Given the description of an element on the screen output the (x, y) to click on. 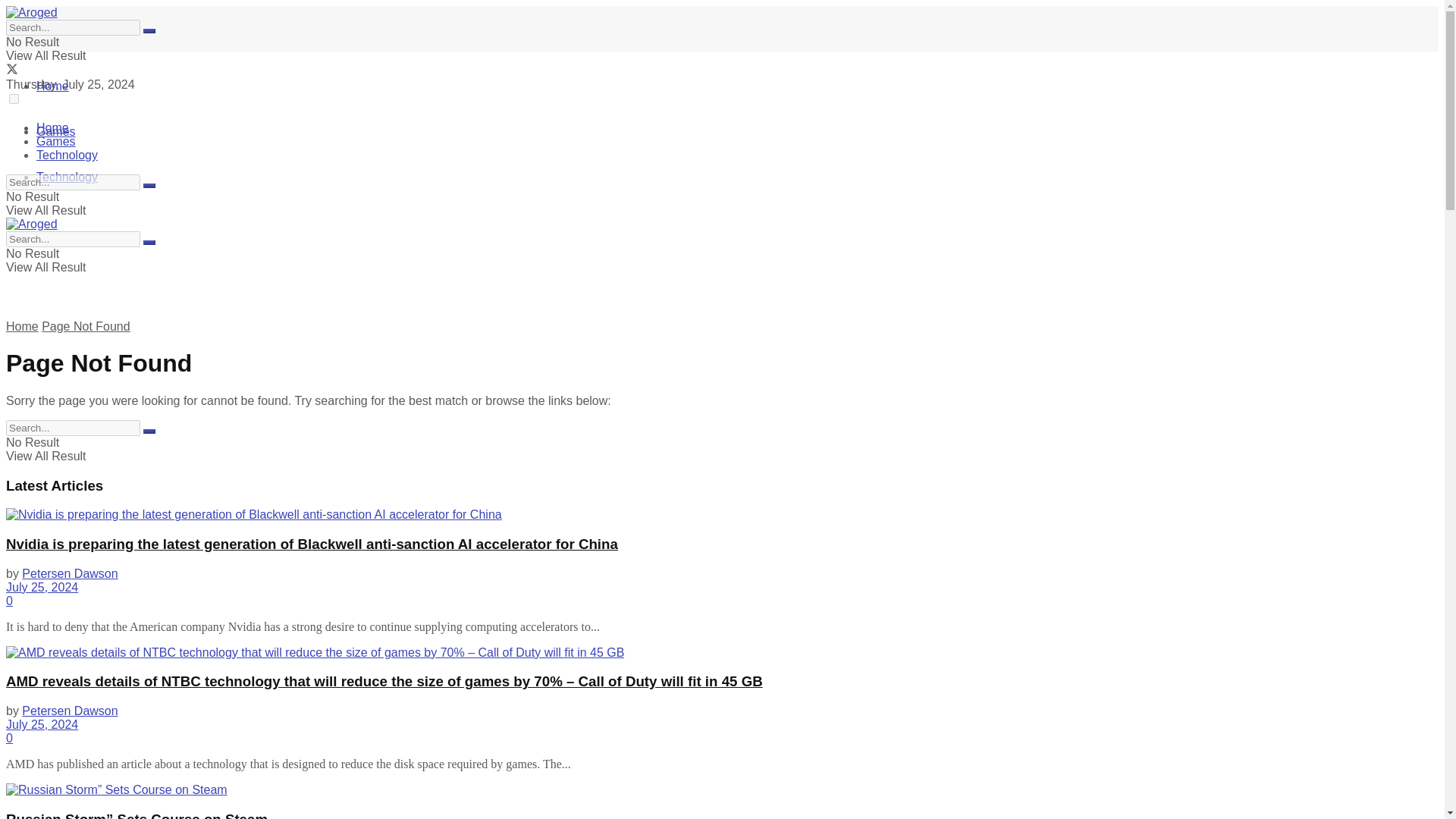
Games (55, 141)
Home (52, 127)
Page Not Found (86, 326)
Petersen Dawson (69, 710)
Games (55, 131)
Home (22, 326)
0 (9, 600)
on (13, 99)
Technology (66, 176)
Petersen Dawson (69, 573)
Home (52, 85)
0 (9, 738)
July 25, 2024 (41, 586)
